Given the description of an element on the screen output the (x, y) to click on. 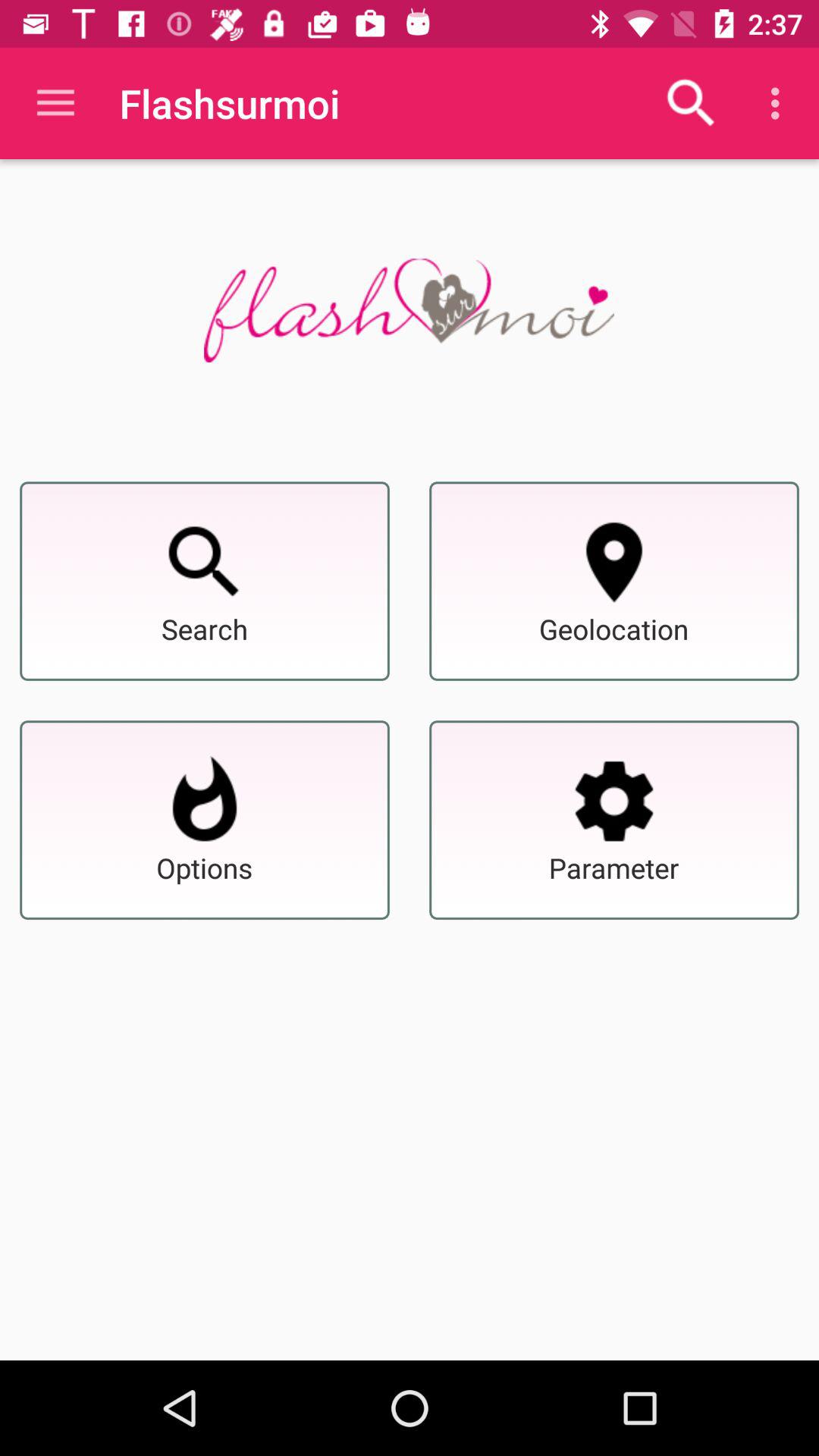
show options (204, 801)
